Given the description of an element on the screen output the (x, y) to click on. 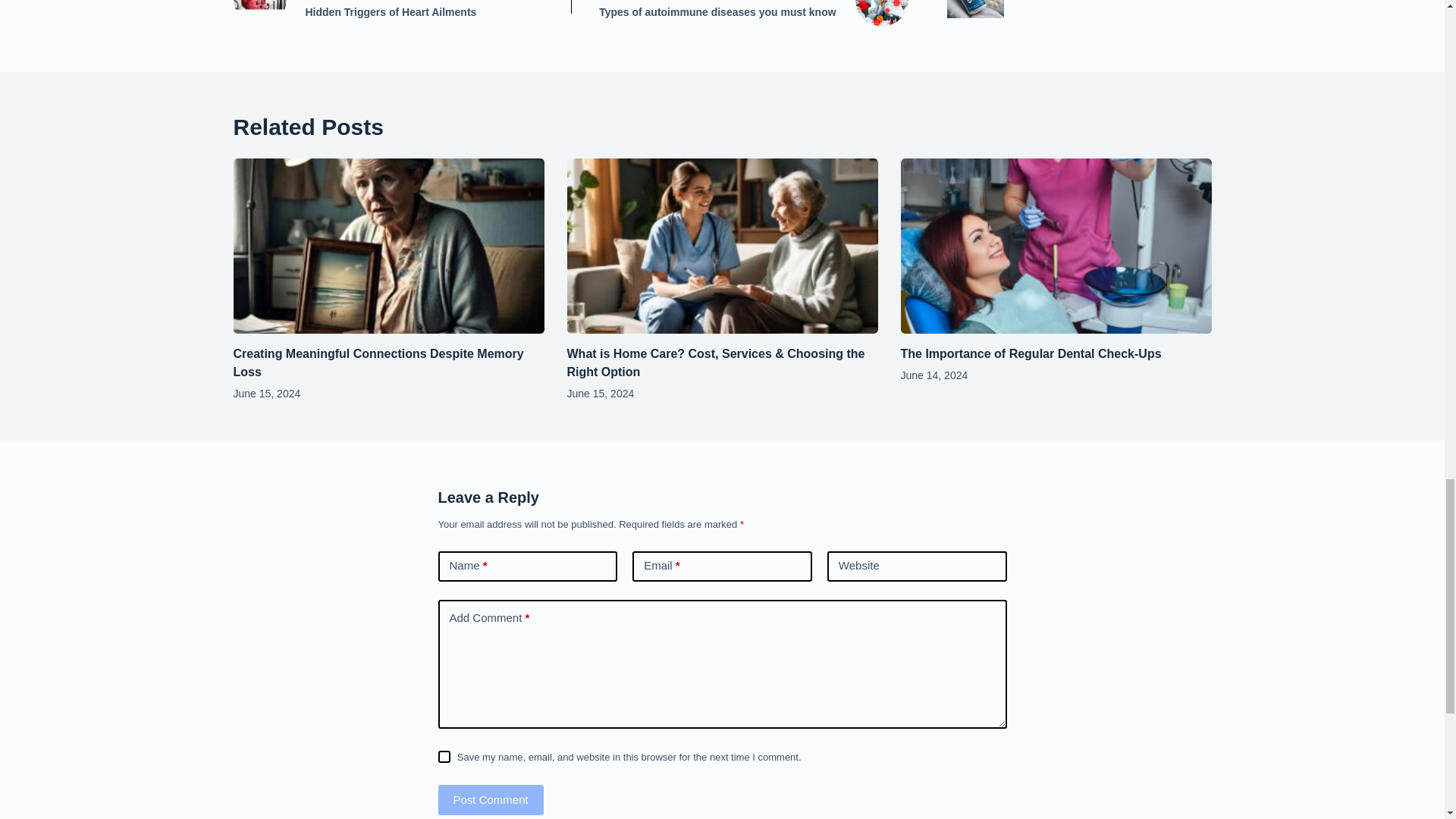
Creating Meaningful Connections Despite Memory Loss (378, 362)
yes (751, 13)
Post Comment (443, 756)
The Importance of Regular Dental Check-Ups (490, 799)
